Given the description of an element on the screen output the (x, y) to click on. 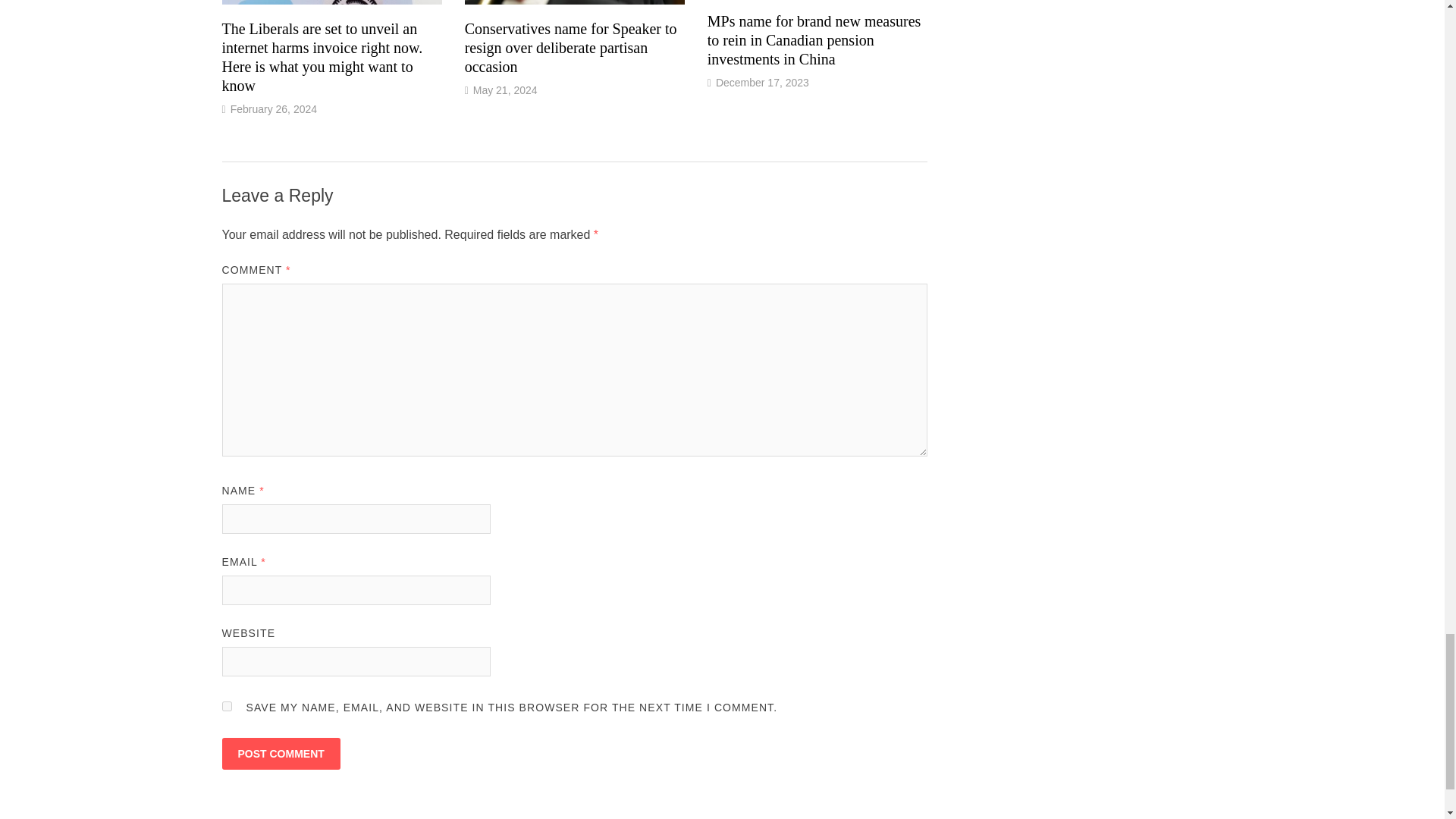
May 21, 2024 (505, 89)
February 26, 2024 (273, 109)
Post Comment (280, 753)
yes (226, 706)
